Given the description of an element on the screen output the (x, y) to click on. 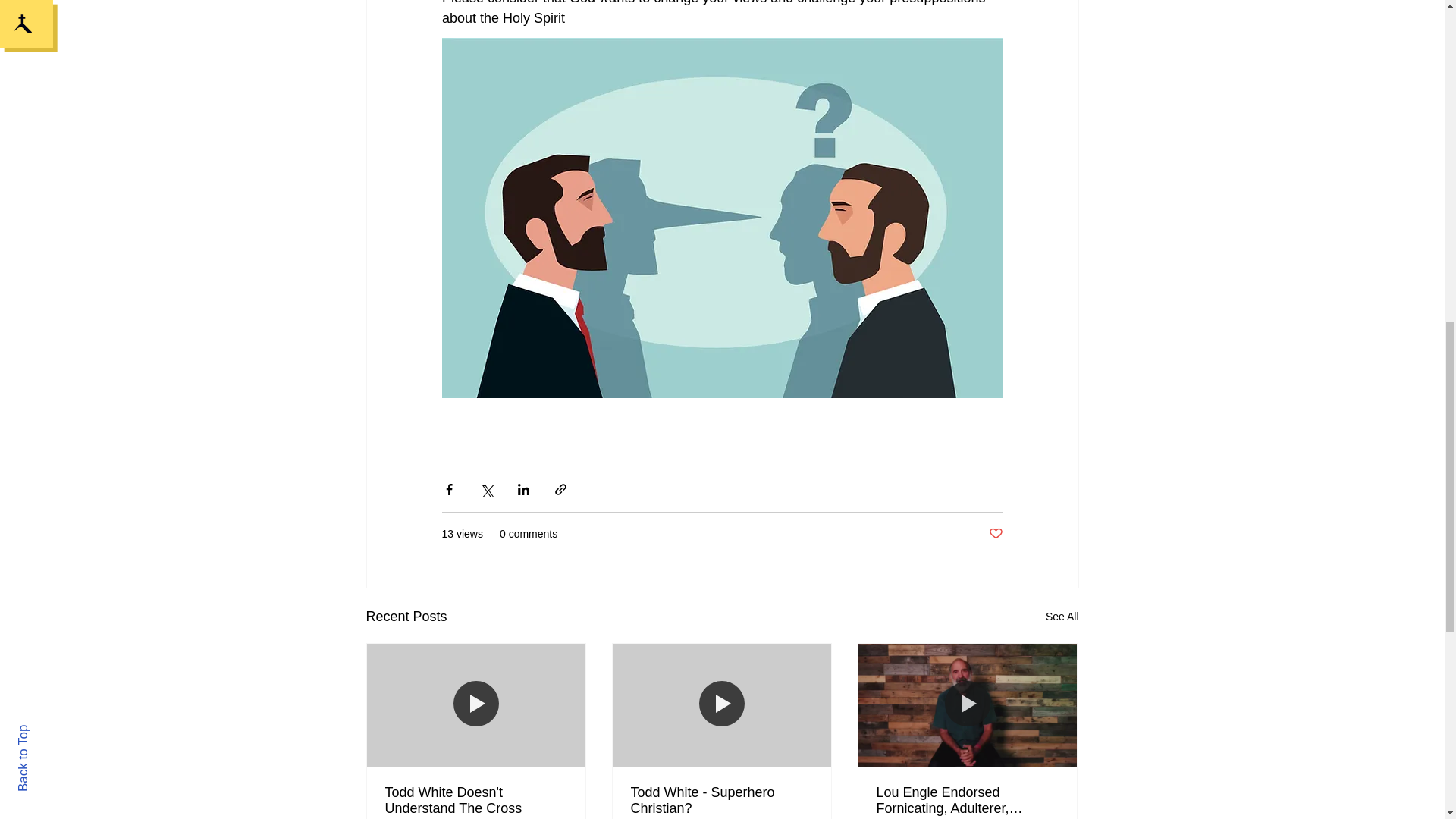
Todd White Doesn't Understand The Cross (476, 800)
Todd White - Superhero Christian? (721, 800)
Post not marked as liked (995, 534)
See All (1061, 617)
